Given the description of an element on the screen output the (x, y) to click on. 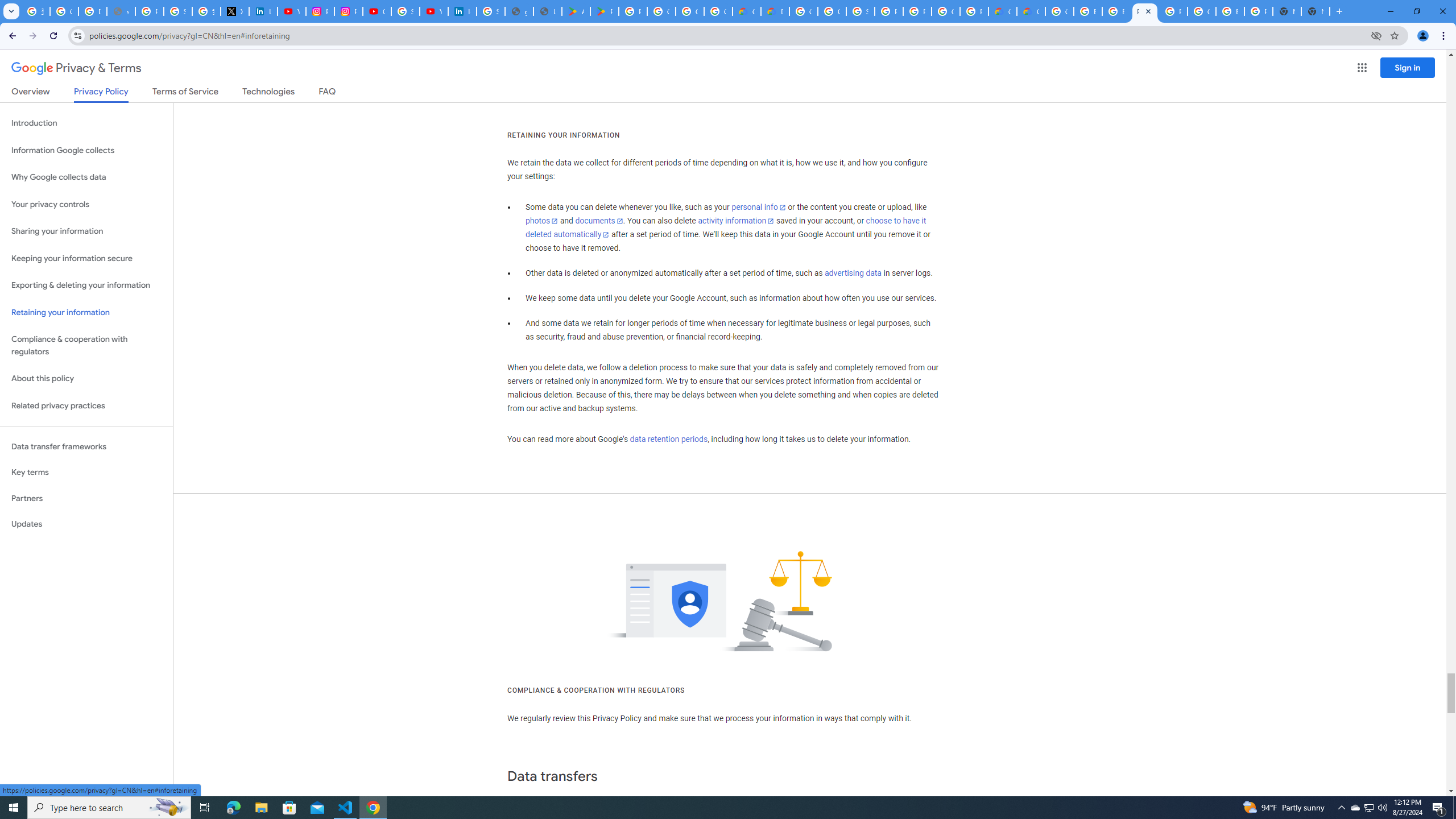
Google Cloud Platform (803, 11)
